Given the description of an element on the screen output the (x, y) to click on. 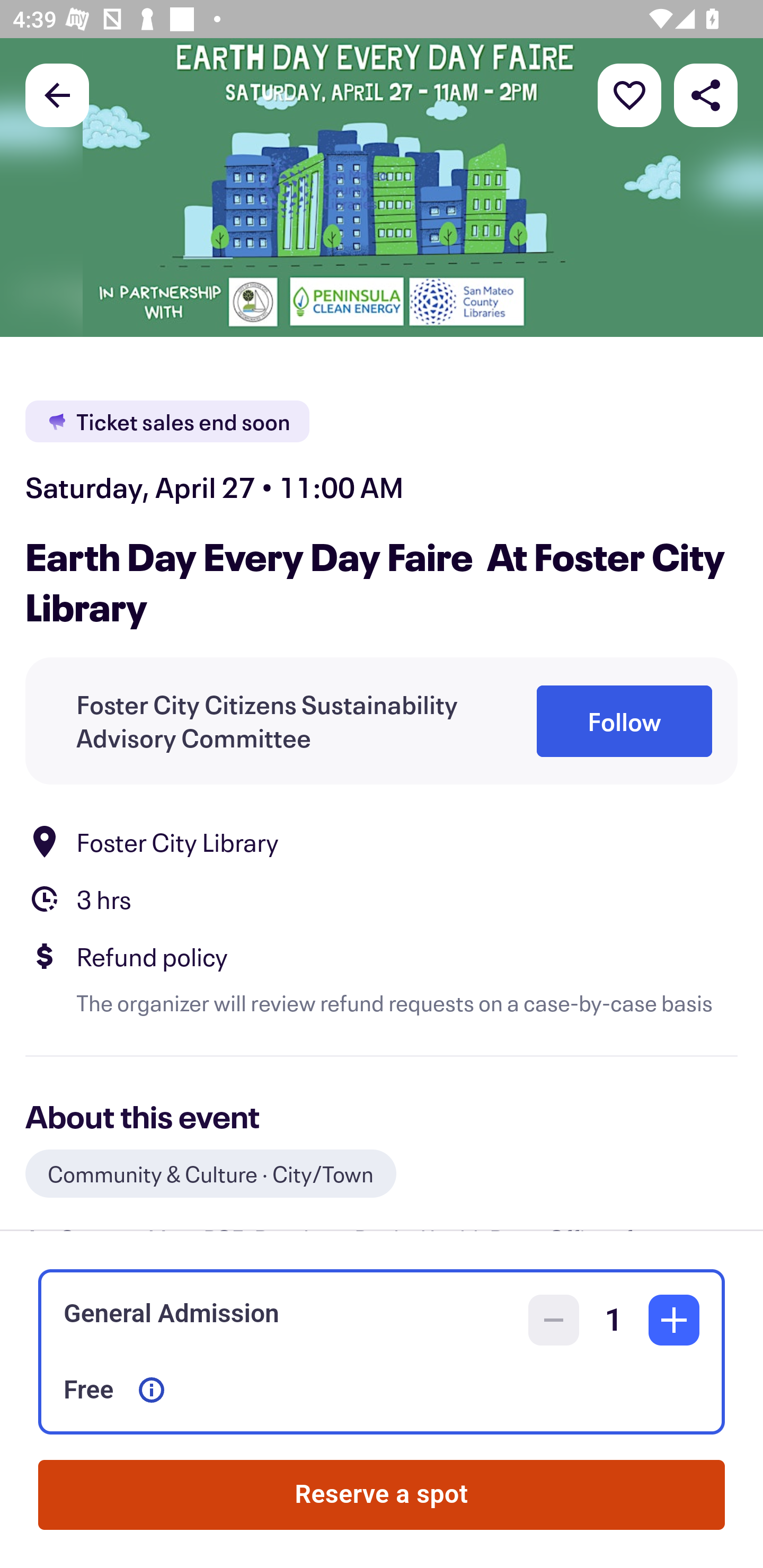
Back (57, 94)
More (629, 94)
Share (705, 94)
Follow (623, 720)
Location Foster City Library (381, 840)
